Given the description of an element on the screen output the (x, y) to click on. 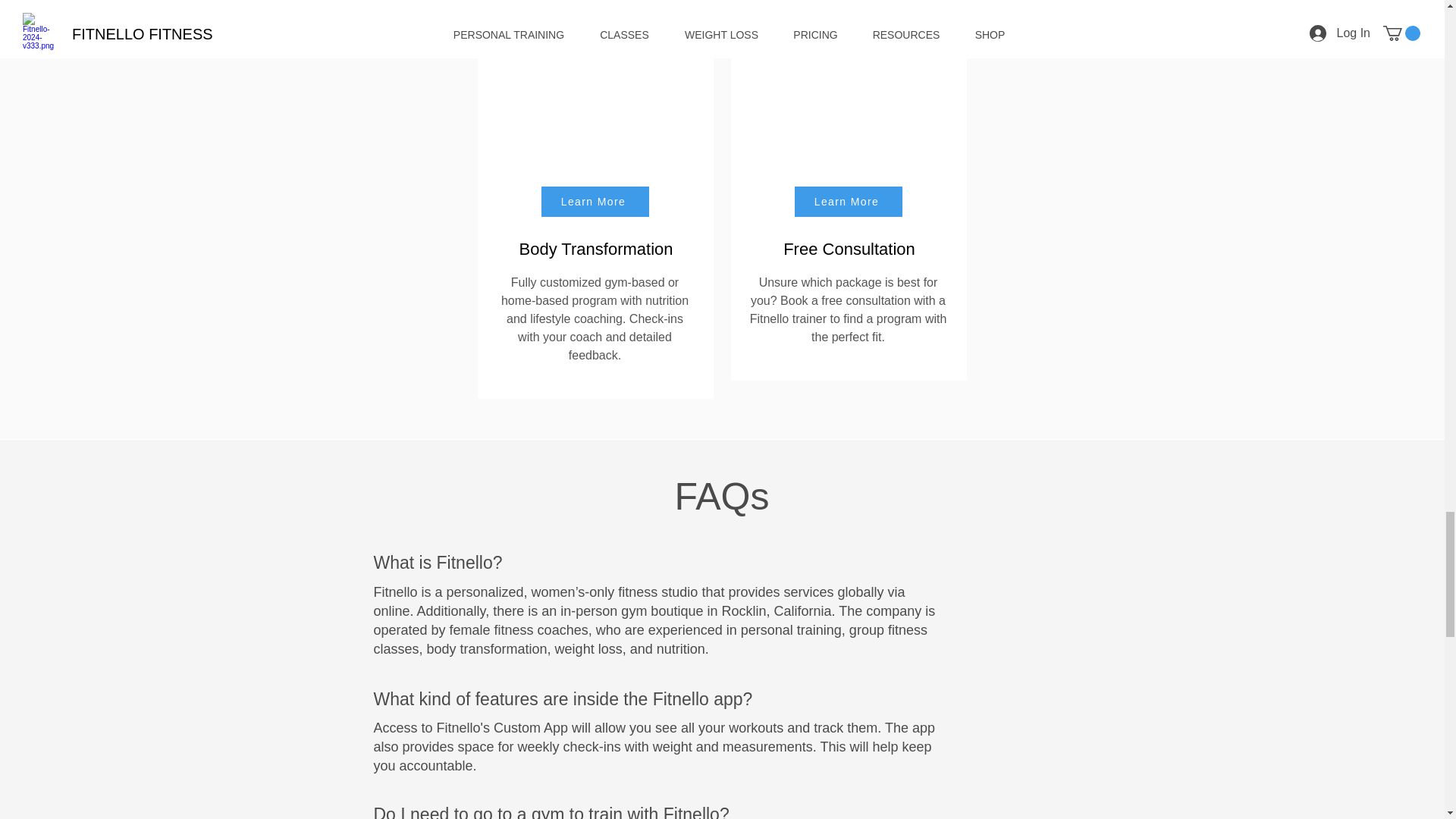
Learn More (848, 201)
Learn More (595, 201)
